Given the description of an element on the screen output the (x, y) to click on. 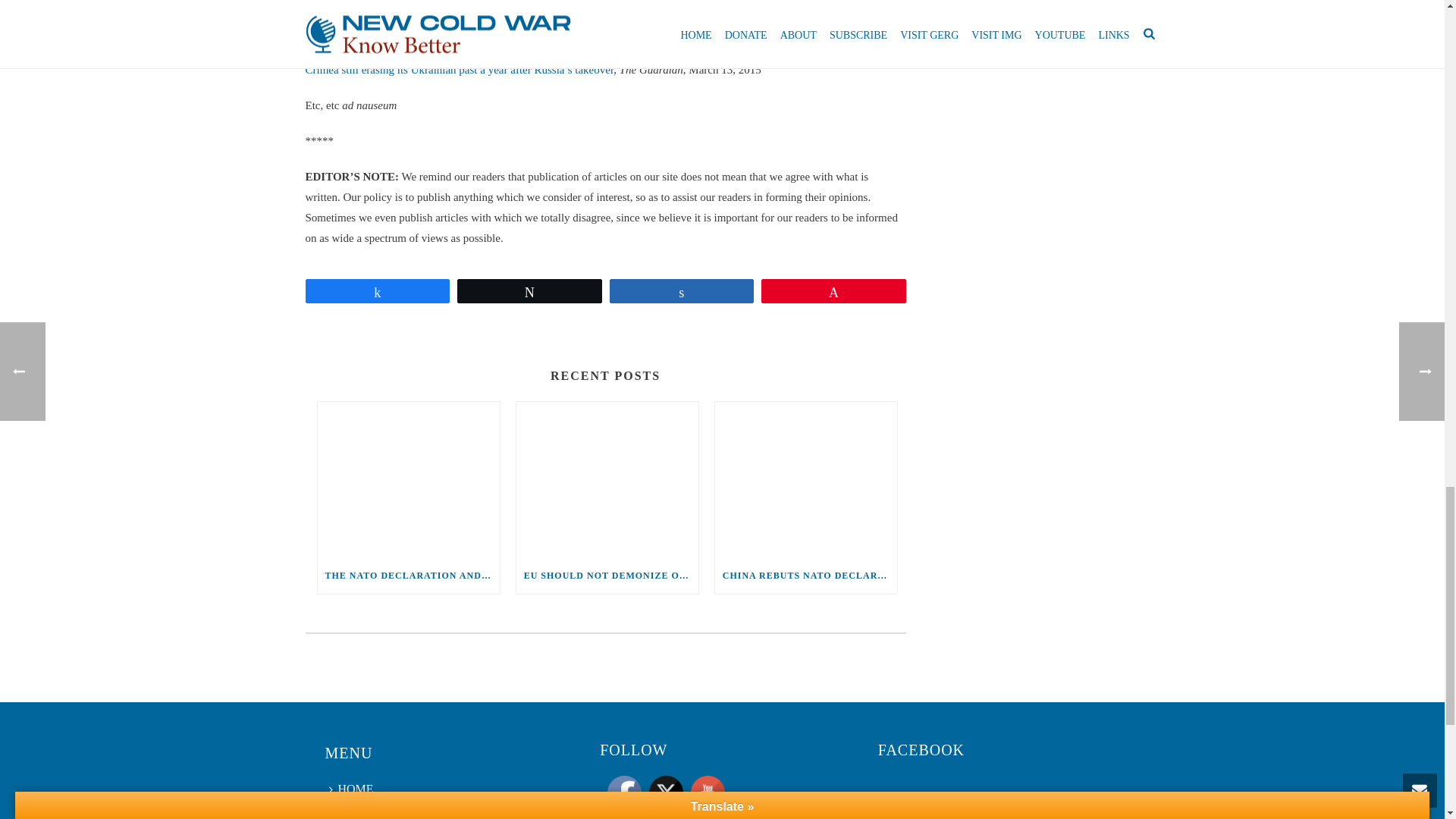
YOUTUBE (707, 792)
Facebook (624, 792)
Twitter (665, 792)
